Given the description of an element on the screen output the (x, y) to click on. 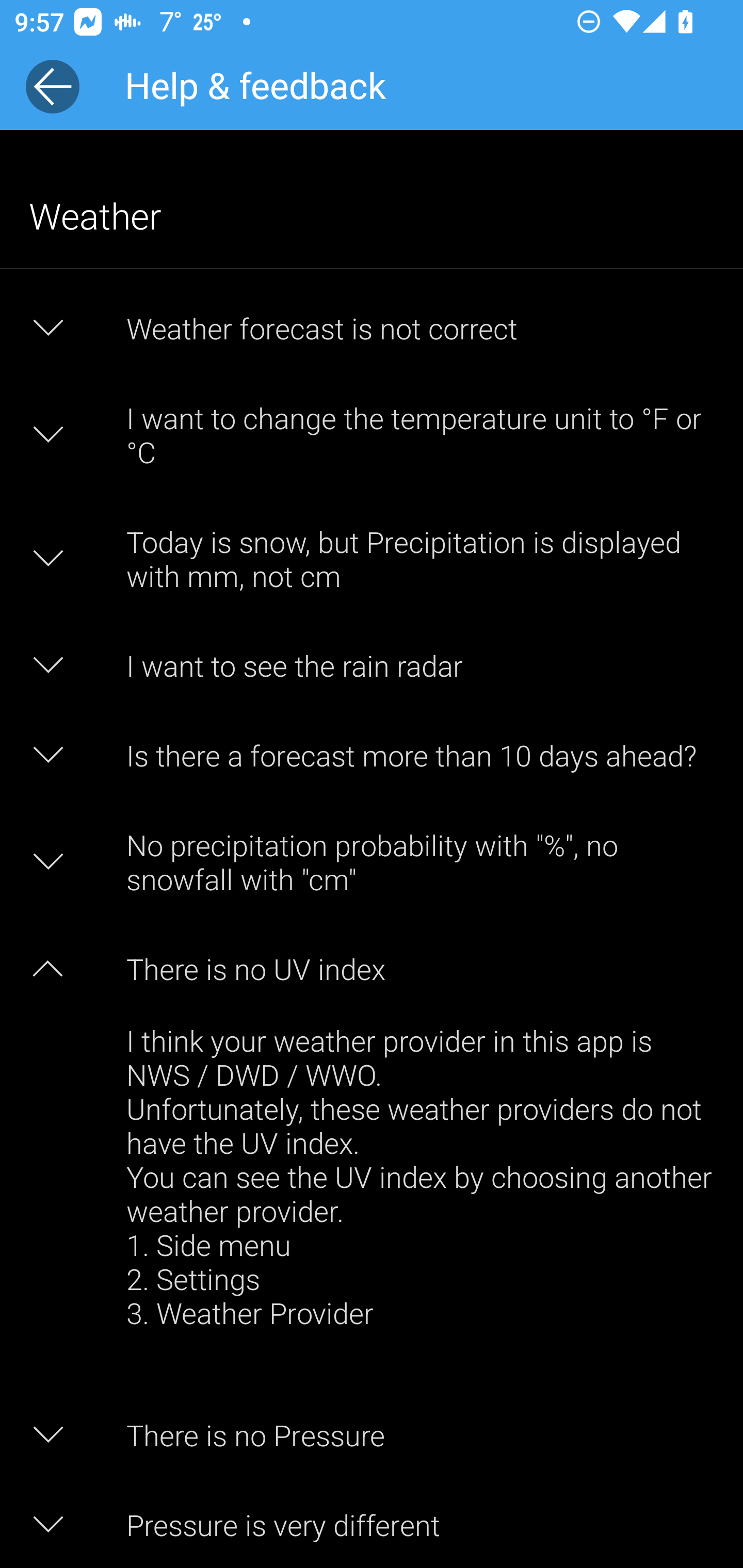
Weather forecast is not correct  (371, 328)
I want to see the rain radar  (371, 665)
Is there a forecast more than 10 days ahead?  (371, 754)
There is no Pressure  (371, 1435)
Pressure is very different  (371, 1524)
